Given the description of an element on the screen output the (x, y) to click on. 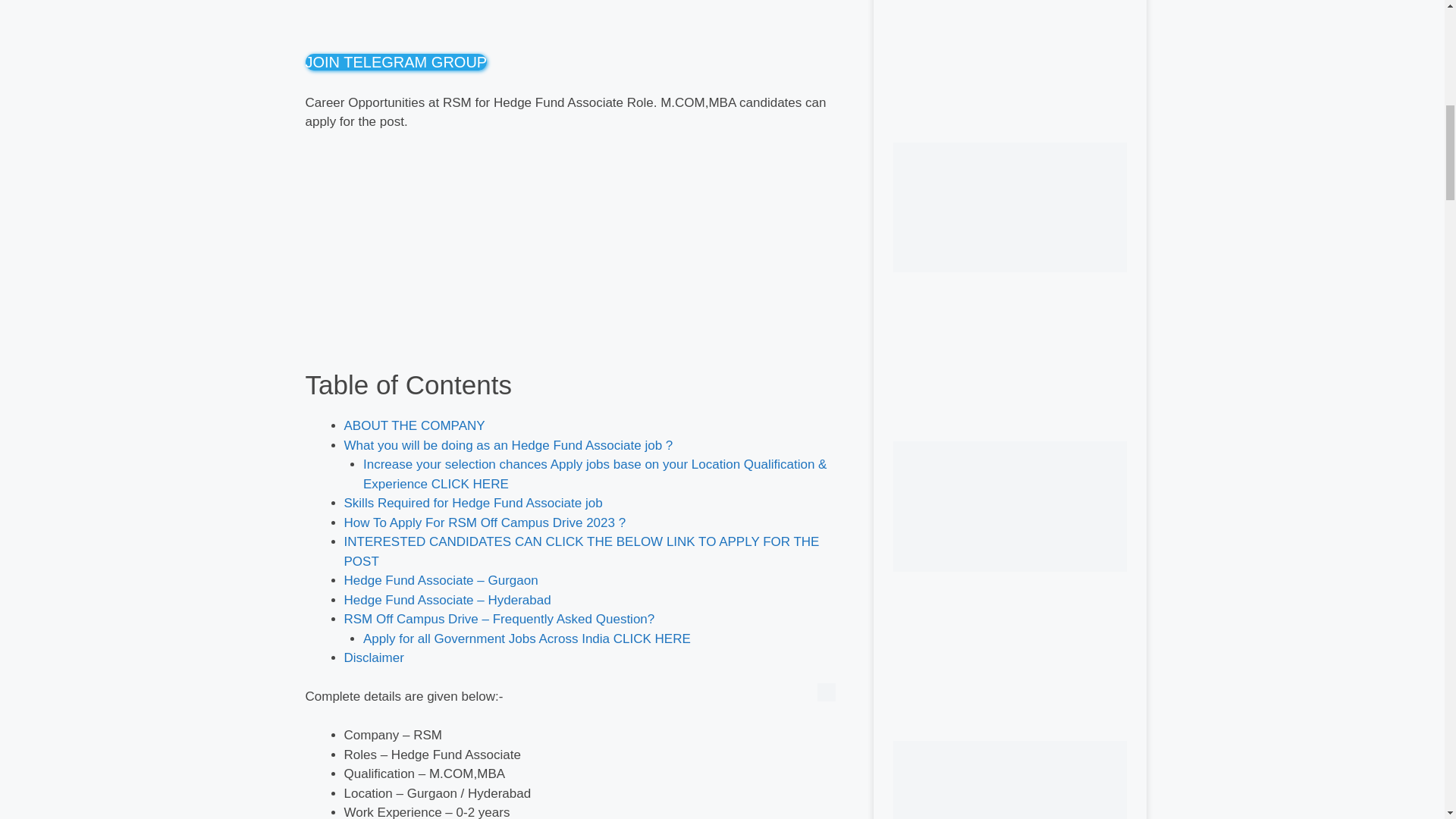
How To Apply For RSM Off Campus Drive 2023 ? (484, 522)
Disclaimer (373, 657)
Advertisement (577, 256)
ABOUT THE COMPANY (413, 425)
Apply for all Government Jobs Across India CLICK HERE (526, 637)
Advertisement (577, 22)
Skills Required for Hedge Fund Associate job (472, 503)
What you will be doing as an Hedge Fund Associate job ? (507, 445)
JOIN TELEGRAM GROUP (395, 62)
